Given the description of an element on the screen output the (x, y) to click on. 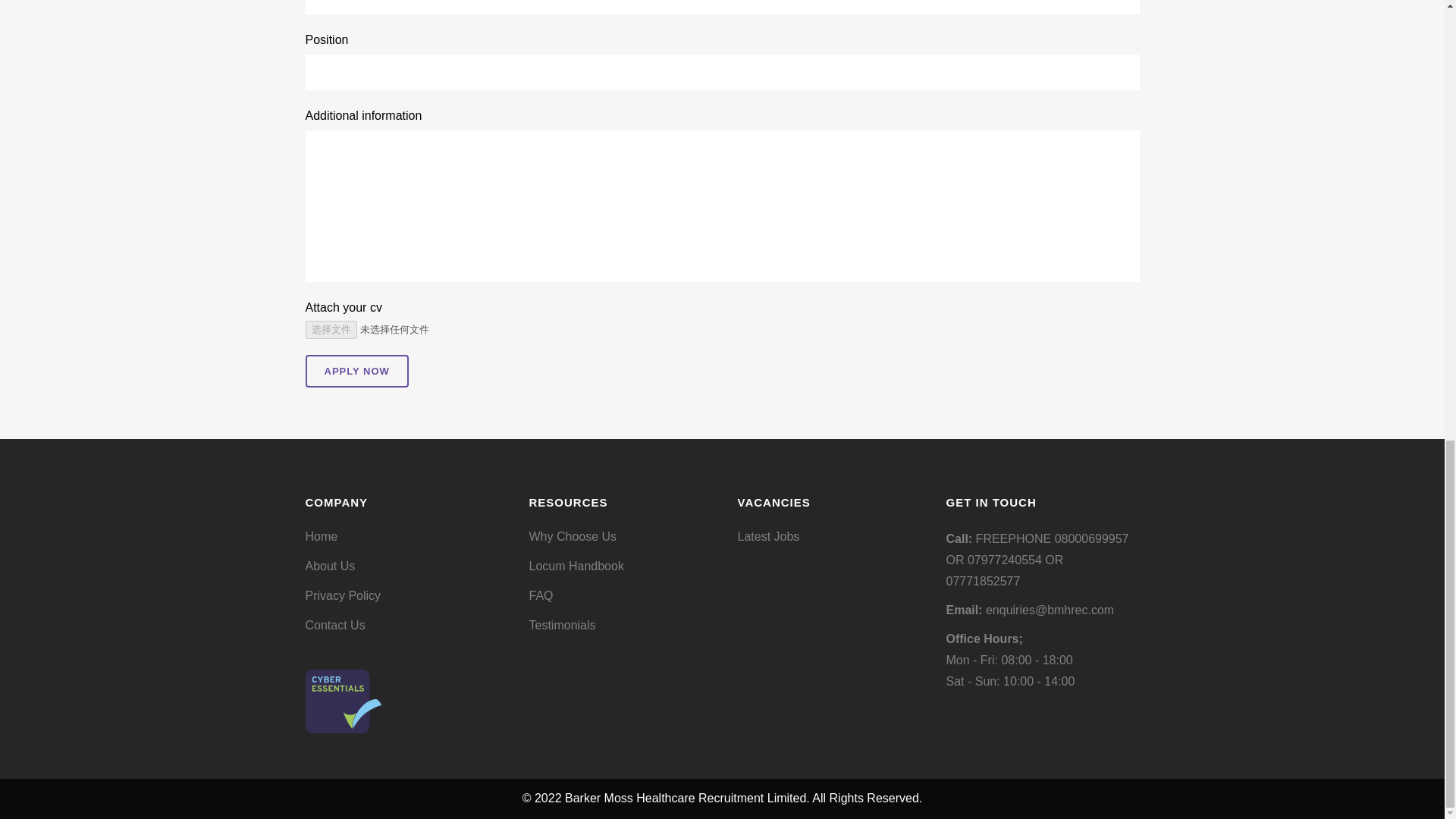
Apply Now (355, 370)
Contact Us (403, 625)
Latest Jobs (831, 536)
Testimonials (621, 625)
Home (403, 536)
Apply Now (355, 370)
About Us (403, 565)
Why Choose Us (621, 536)
Privacy Policy (403, 596)
Locum Handbook (621, 565)
FAQ (621, 596)
